Given the description of an element on the screen output the (x, y) to click on. 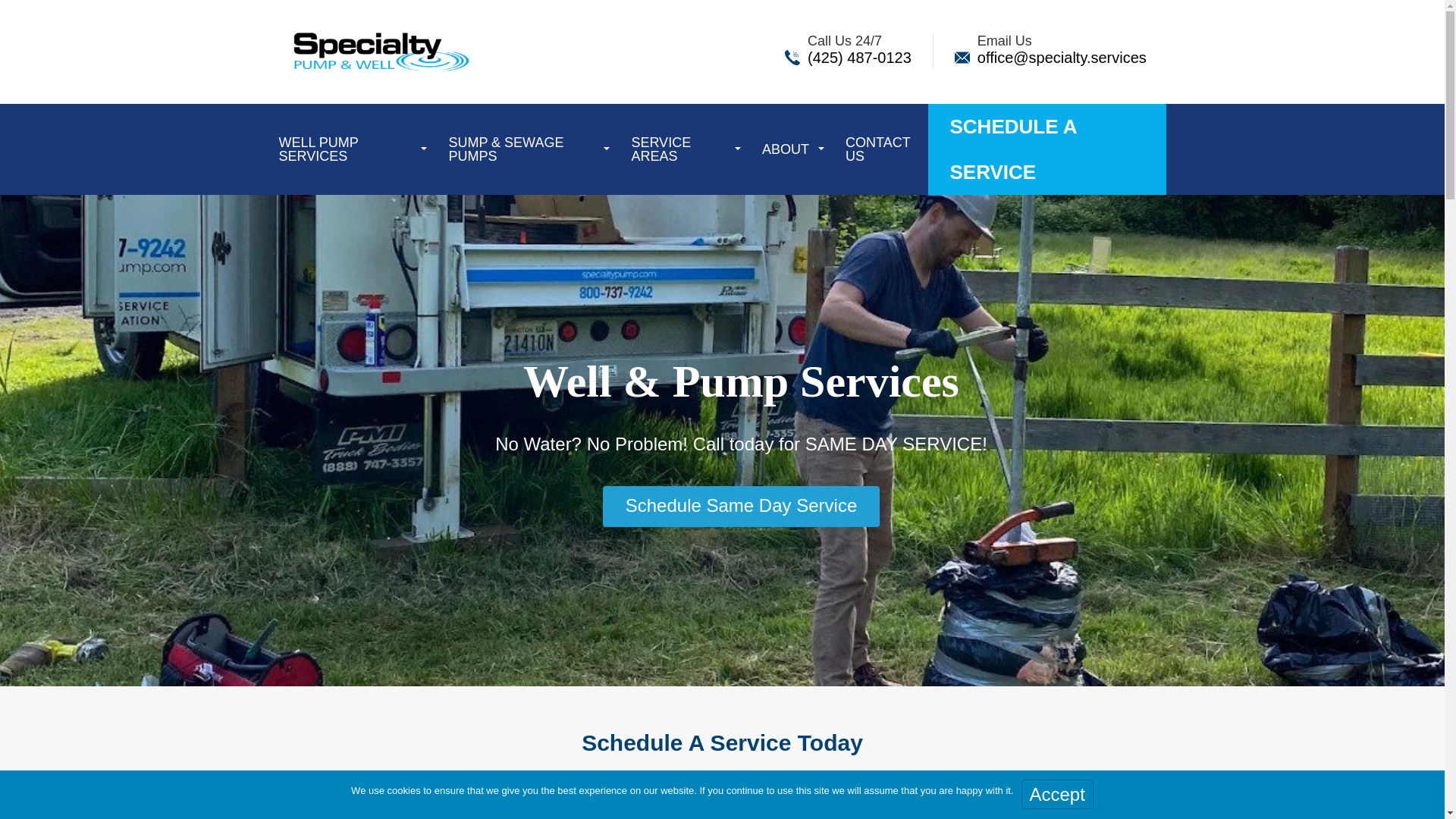
Submit Information (1075, 796)
Service Areas (677, 149)
Well Pump Services (349, 149)
WELL PUMP SERVICES (349, 149)
SERVICE AREAS (677, 149)
